Given the description of an element on the screen output the (x, y) to click on. 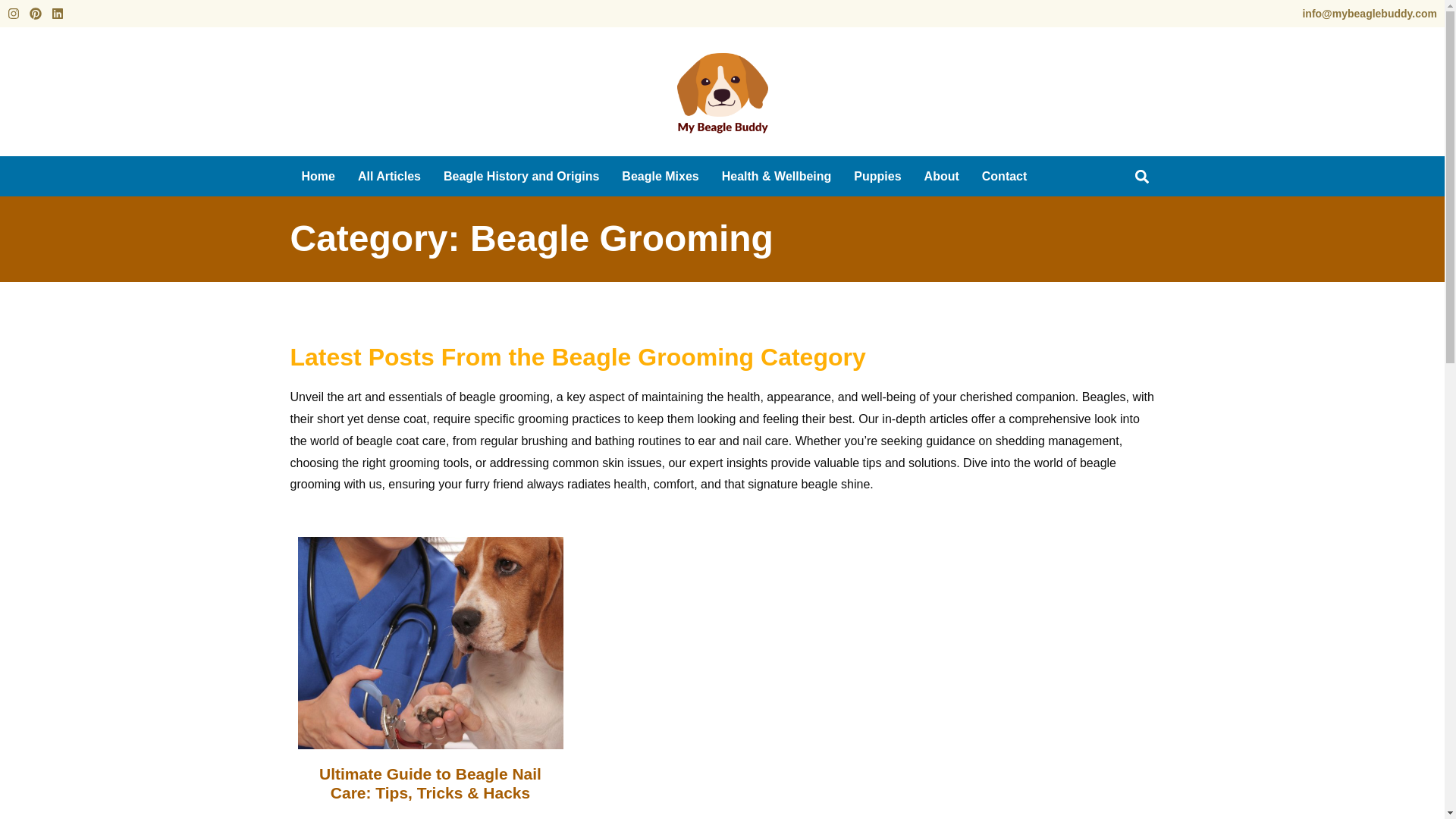
All Articles (389, 175)
Puppies (877, 175)
Beagle Mixes (660, 175)
Beagle History and Origins (521, 175)
Home (317, 175)
Contact (1005, 175)
About (941, 175)
